Given the description of an element on the screen output the (x, y) to click on. 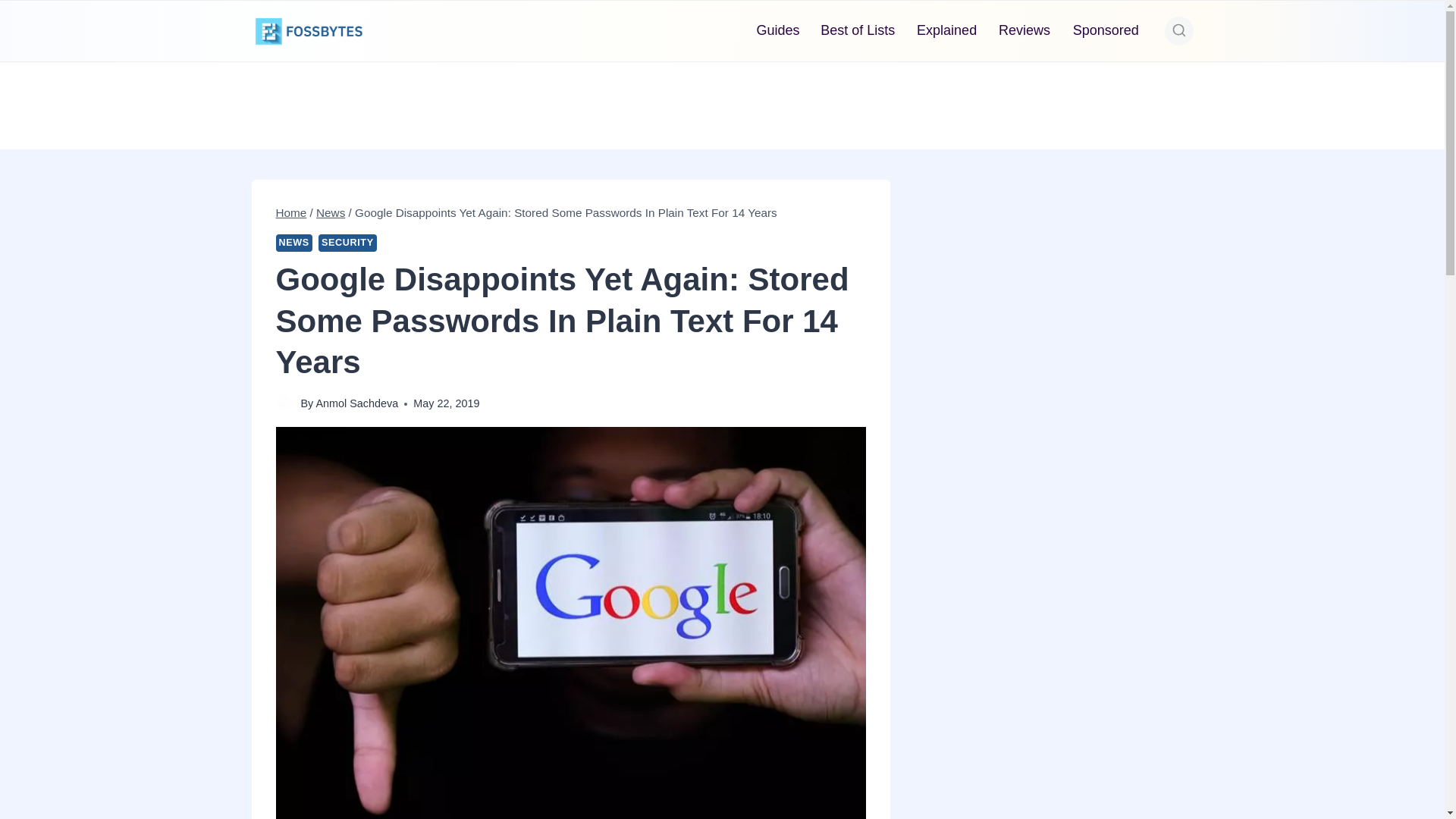
Guides (777, 30)
Home (291, 212)
Explained (946, 30)
Advertisement (721, 101)
NEWS (294, 242)
Sponsored (1105, 30)
News (330, 212)
Anmol Sachdeva (356, 403)
Reviews (1024, 30)
Best of Lists (857, 30)
